Given the description of an element on the screen output the (x, y) to click on. 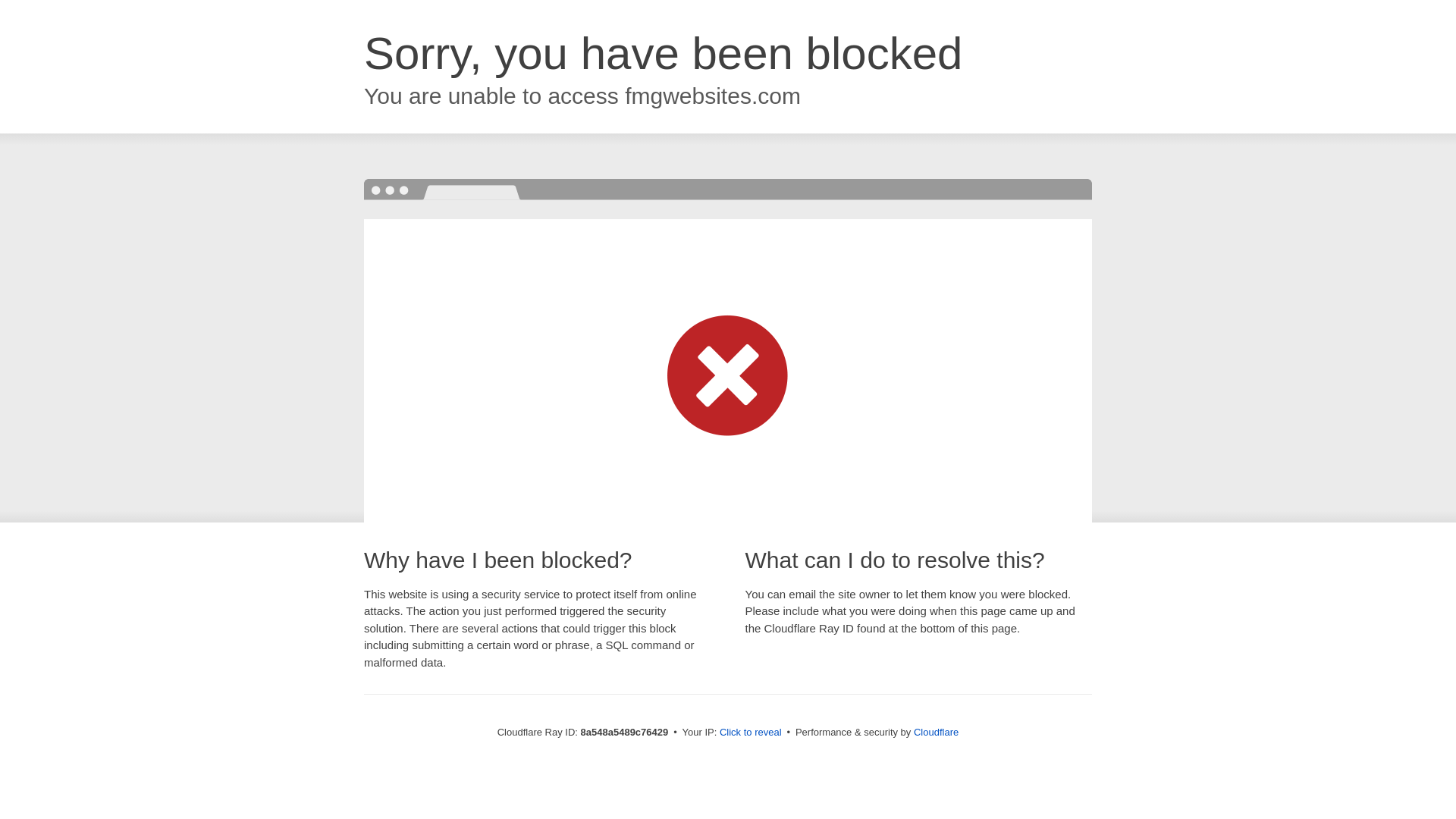
Click to reveal (750, 732)
Cloudflare (936, 731)
